Given the description of an element on the screen output the (x, y) to click on. 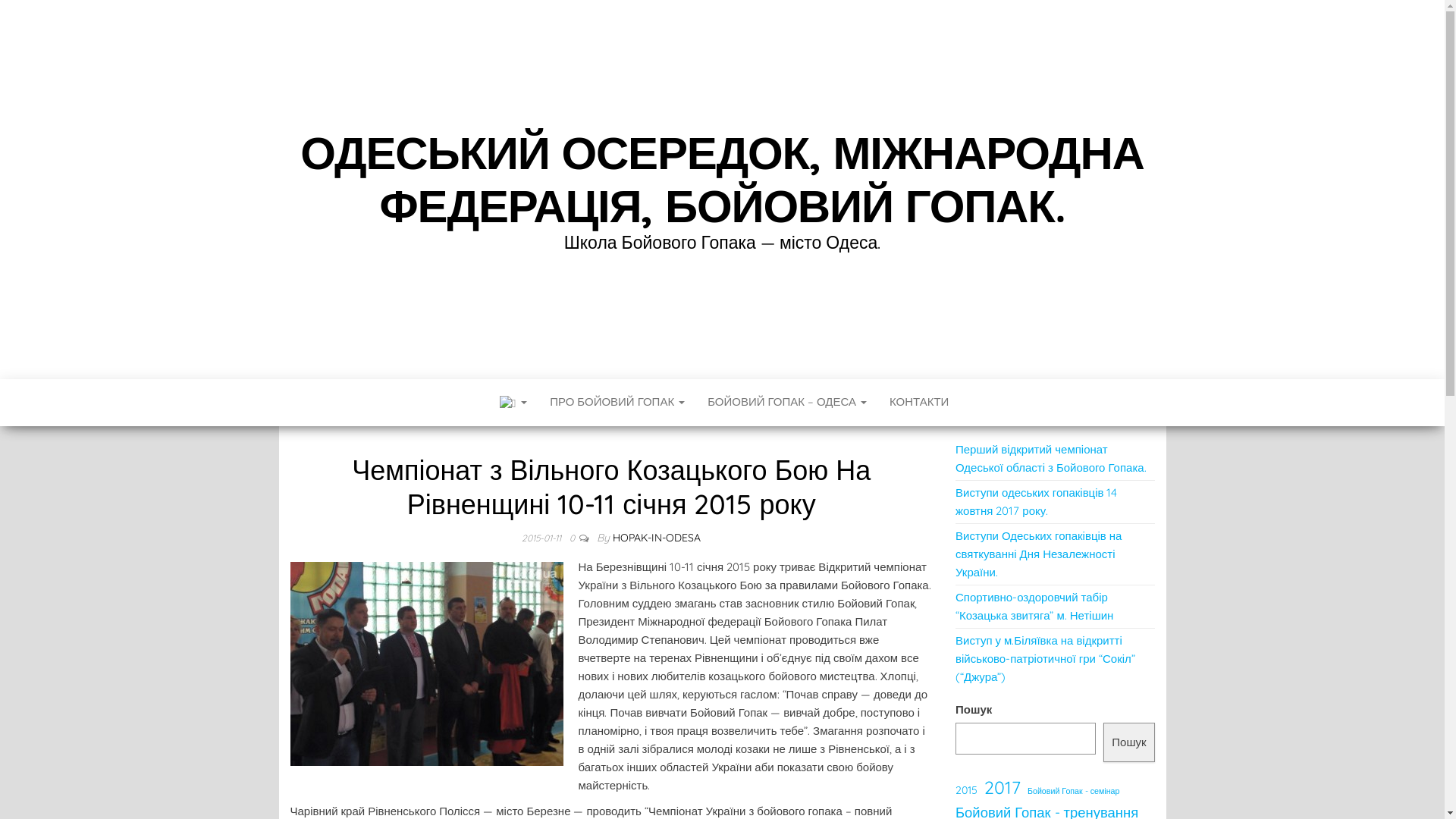
  Element type: text (511, 402)
0 Element type: text (573, 537)
2015 Element type: text (966, 789)
2017 Element type: text (1002, 787)
HOPAK-IN-ODESA Element type: text (656, 537)
